Given the description of an element on the screen output the (x, y) to click on. 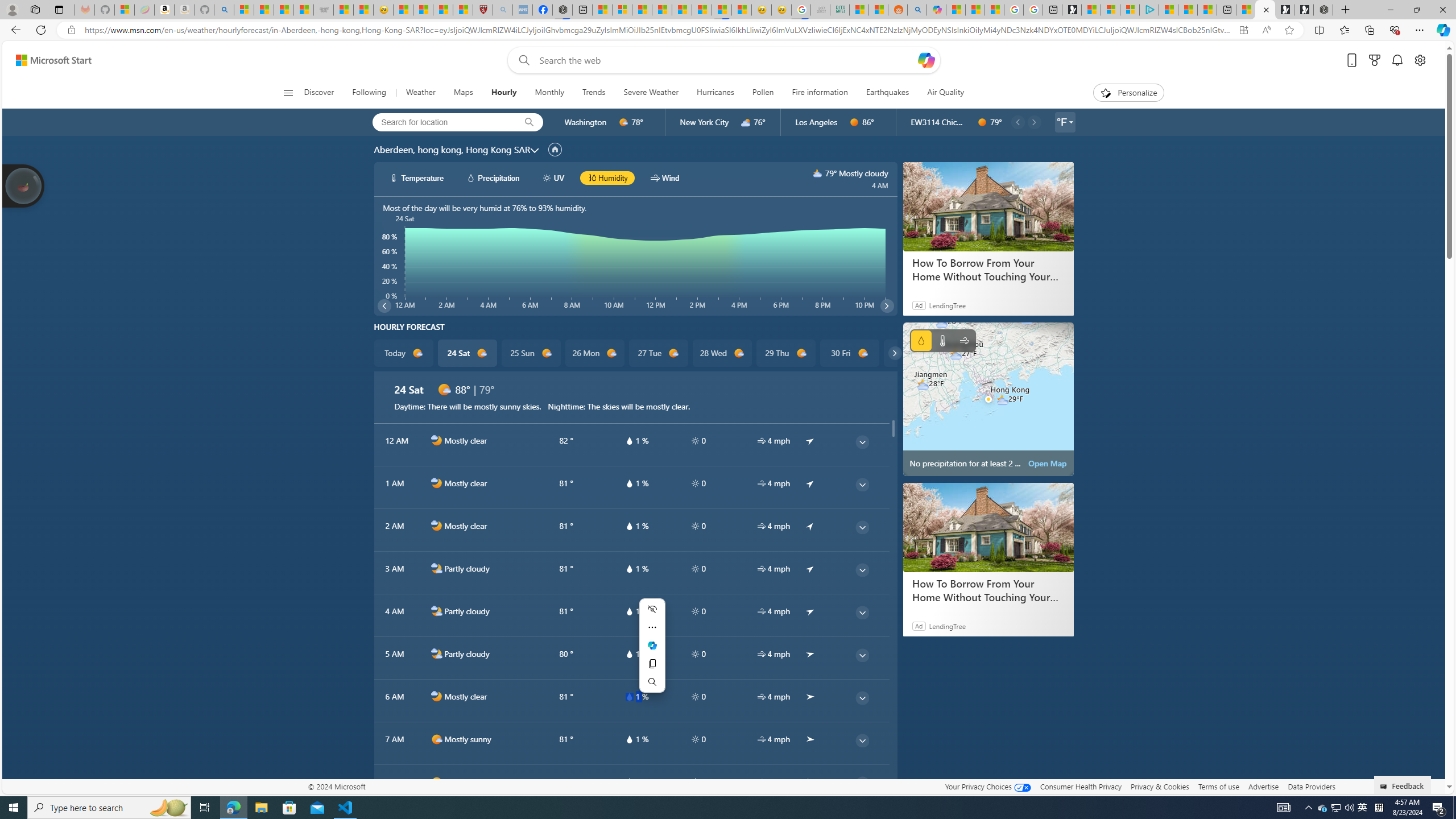
locationName/setHomeLocation (555, 149)
common/arrow (810, 782)
Mini menu on text selection (652, 645)
Monthly (549, 92)
